Given the description of an element on the screen output the (x, y) to click on. 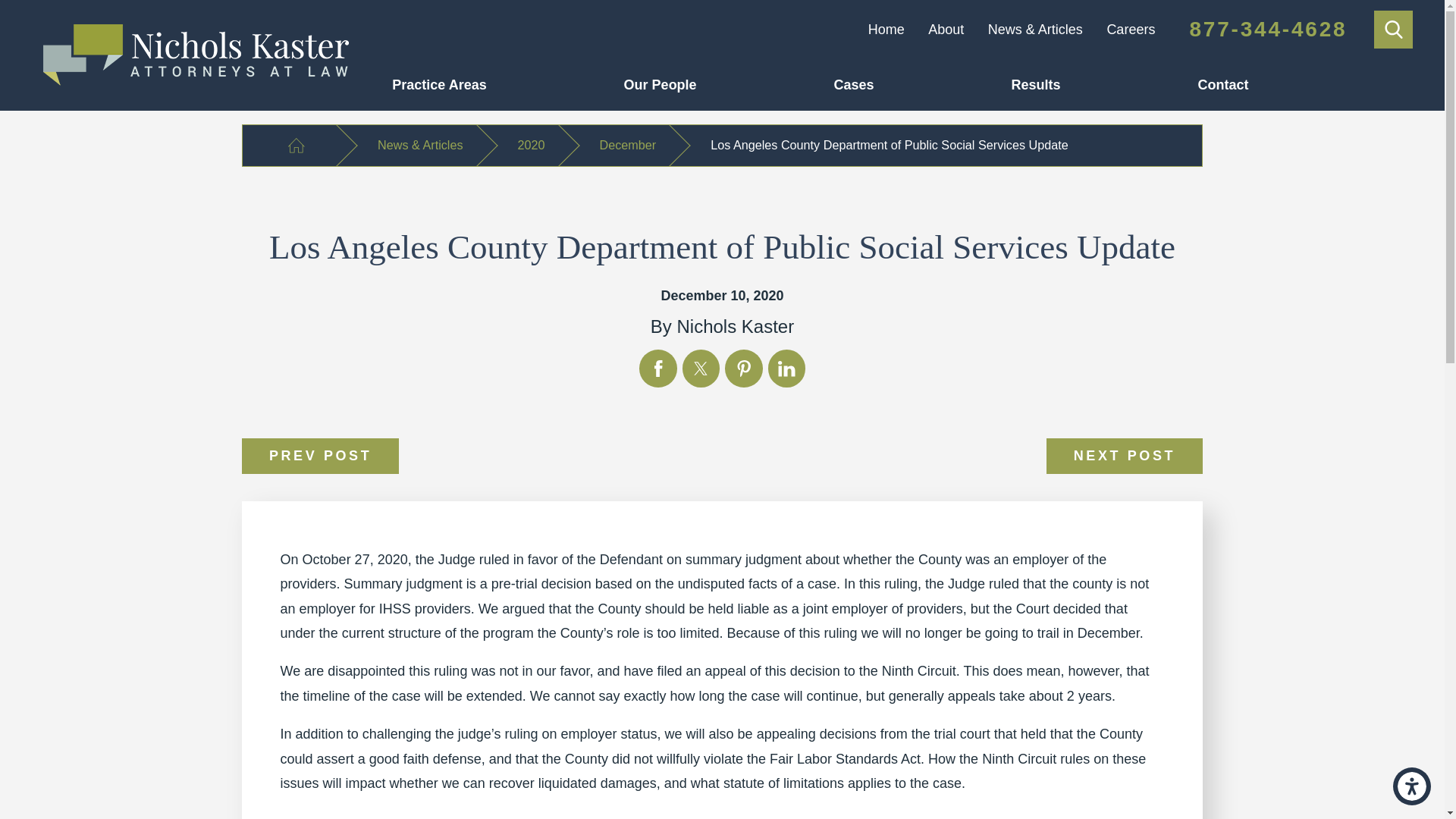
Contact (1291, 84)
Open the accessibility options menu (1412, 786)
877-344-4628 (1267, 29)
Cases (922, 84)
Our People (729, 84)
Nichols Kaster PLLP (196, 54)
Practice Areas (507, 84)
Results (1104, 84)
Careers (1130, 29)
Go Home (296, 145)
